Given the description of an element on the screen output the (x, y) to click on. 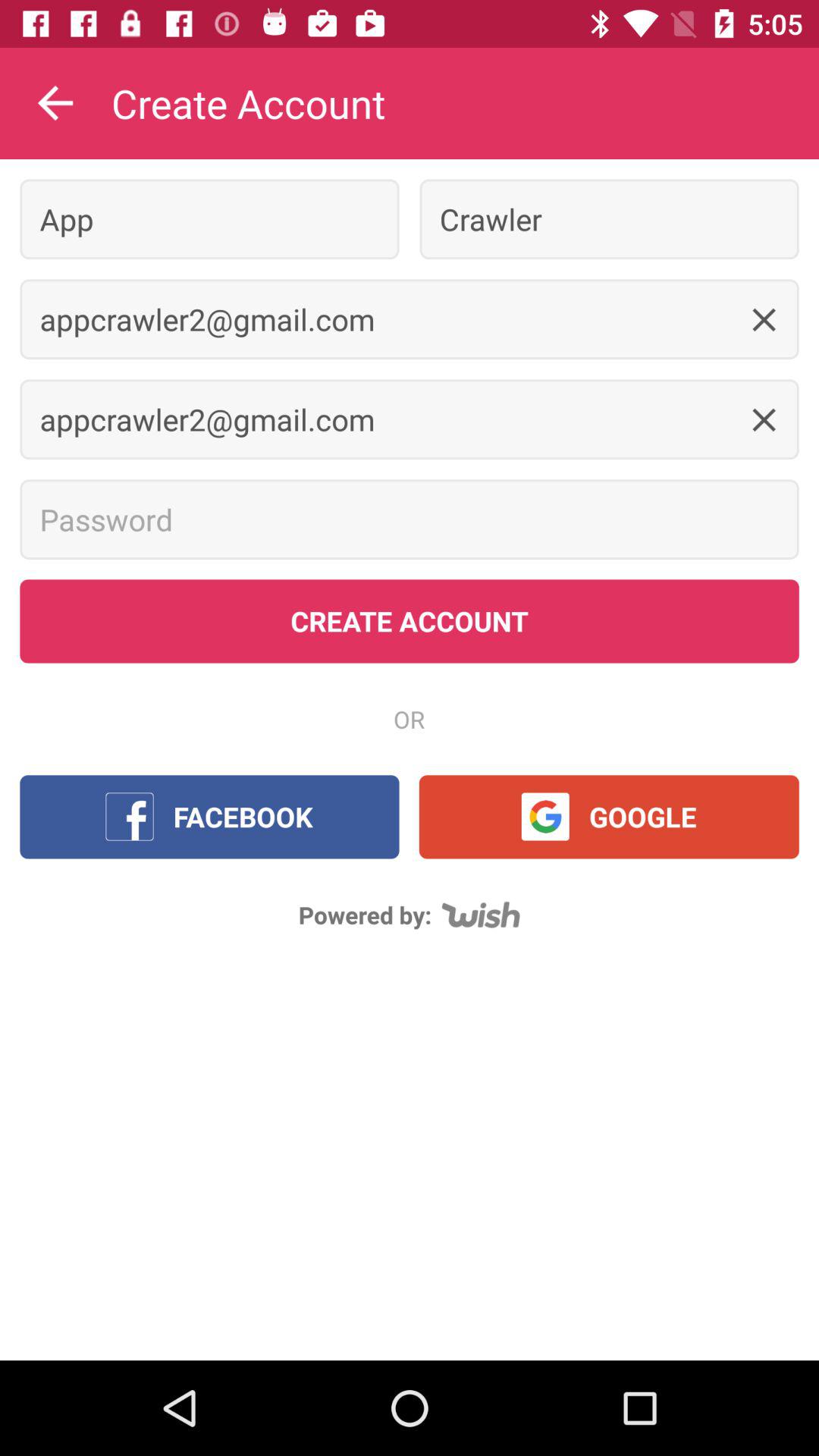
press the icon above the appcrawler2@gmail.com (209, 219)
